Given the description of an element on the screen output the (x, y) to click on. 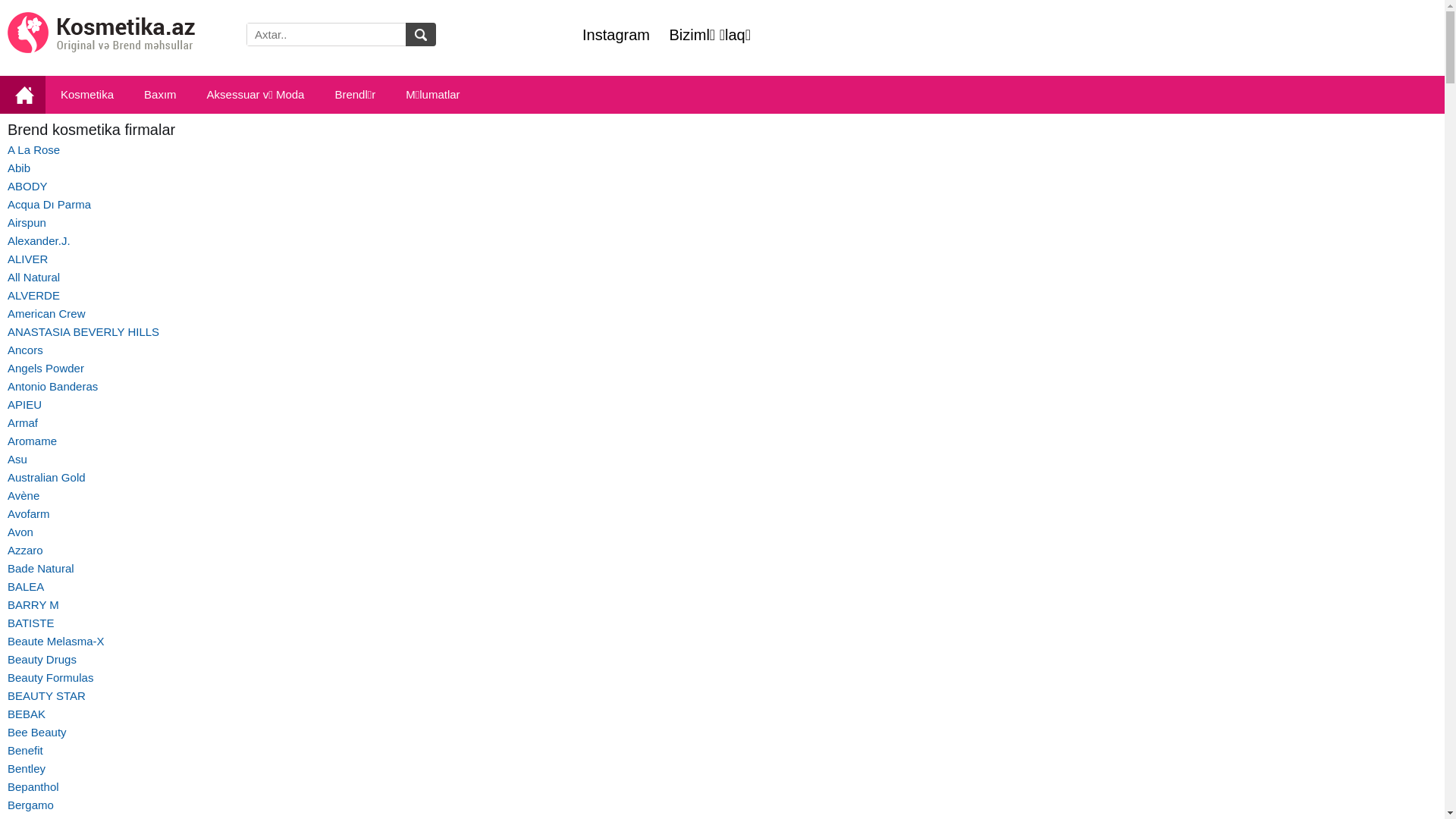
ALIVER Element type: text (27, 258)
Kosmetika Element type: text (86, 95)
Avofarm Element type: text (28, 513)
Aromame Element type: text (31, 440)
Bee Beauty Element type: text (36, 731)
Beaute Melasma-X Element type: text (55, 640)
Benefit Element type: text (25, 749)
BATISTE Element type: text (30, 622)
Bepanthol Element type: text (33, 786)
ABODY Element type: text (27, 185)
  Element type: text (420, 34)
BEAUTY STAR Element type: text (46, 695)
Avon Element type: text (20, 531)
ANASTASIA BEVERLY HILLS Element type: text (83, 331)
Beauty Formulas Element type: text (50, 677)
American Crew Element type: text (46, 313)
APIEU Element type: text (24, 404)
Armaf Element type: text (22, 422)
Beauty Drugs Element type: text (41, 658)
Antonio Banderas Element type: text (52, 385)
A La Rose Element type: text (33, 149)
Abib Element type: text (18, 167)
Alexander.J. Element type: text (38, 240)
BEBAK Element type: text (26, 713)
Australian Gold Element type: text (46, 476)
Bergamo Element type: text (30, 804)
ALVERDE Element type: text (33, 294)
BARRY M Element type: text (33, 604)
BALEA Element type: text (25, 586)
Angels Powder Element type: text (45, 367)
All Natural Element type: text (33, 276)
Asu Element type: text (17, 458)
Airspun Element type: text (26, 222)
Instagram Element type: text (615, 34)
Azzaro Element type: text (25, 549)
Bade Natural Element type: text (40, 567)
Bentley Element type: text (26, 768)
Ancors Element type: text (25, 349)
